Given the description of an element on the screen output the (x, y) to click on. 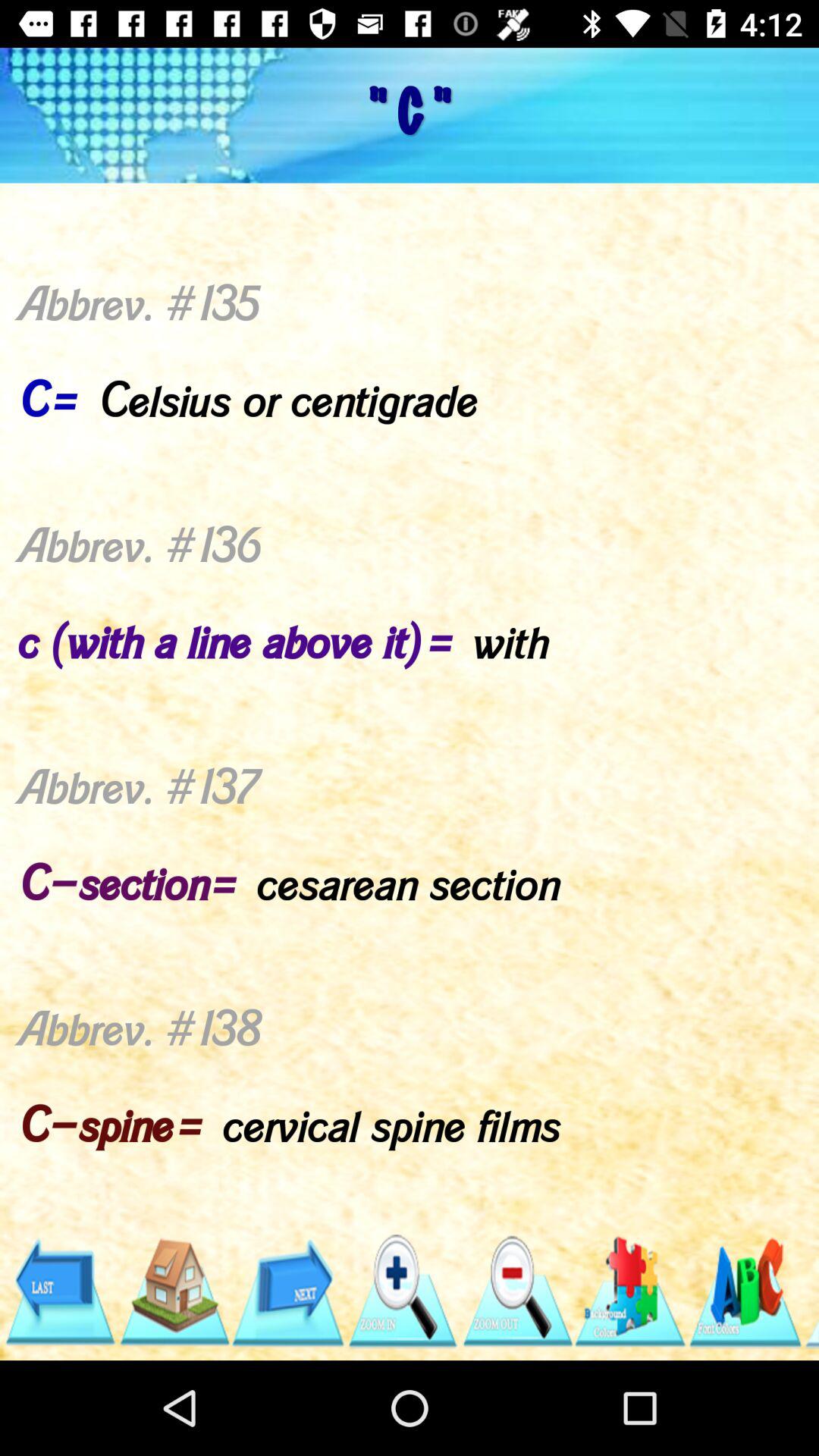
got to next (287, 1291)
